Given the description of an element on the screen output the (x, y) to click on. 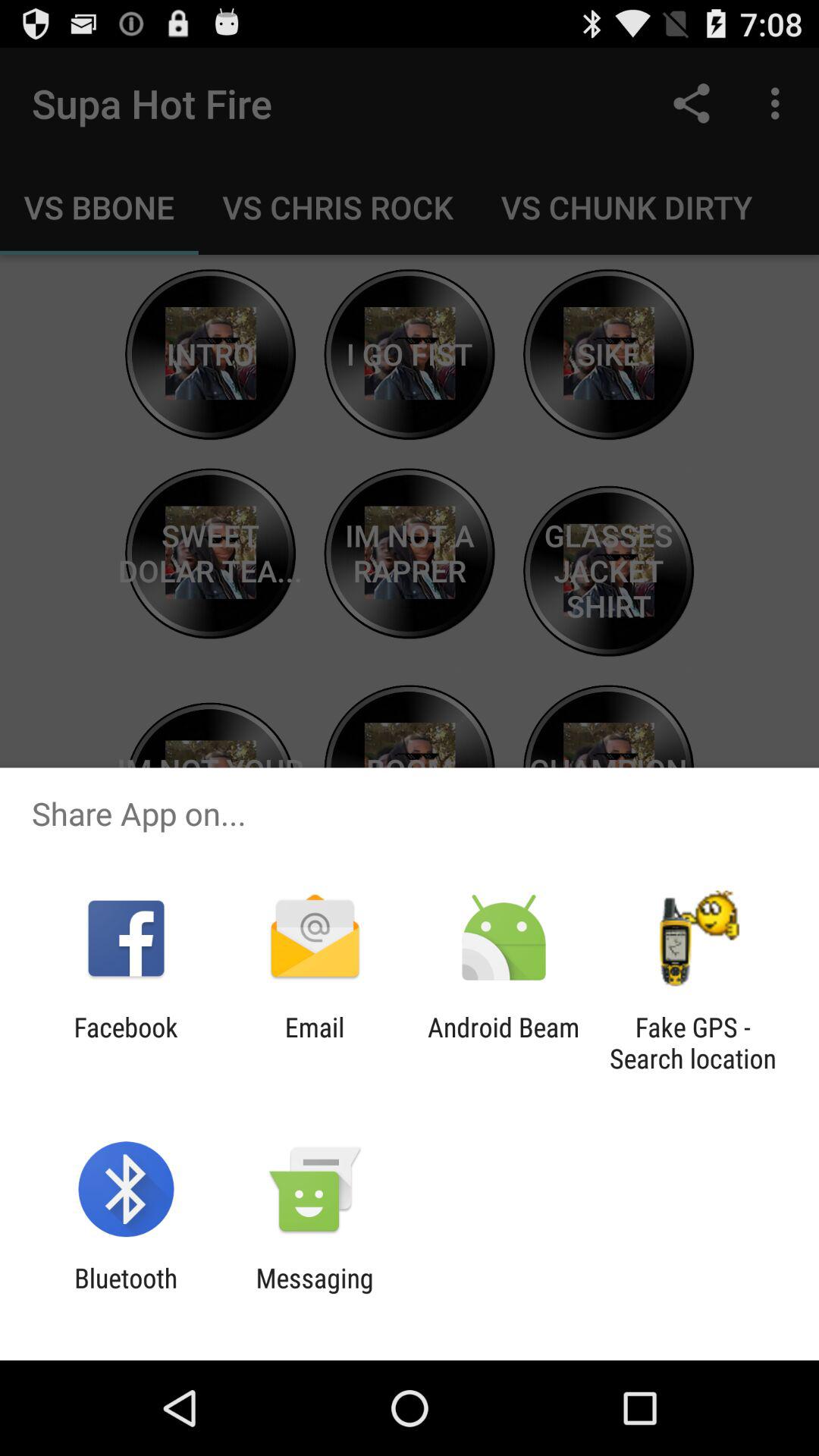
launch the android beam icon (503, 1042)
